Given the description of an element on the screen output the (x, y) to click on. 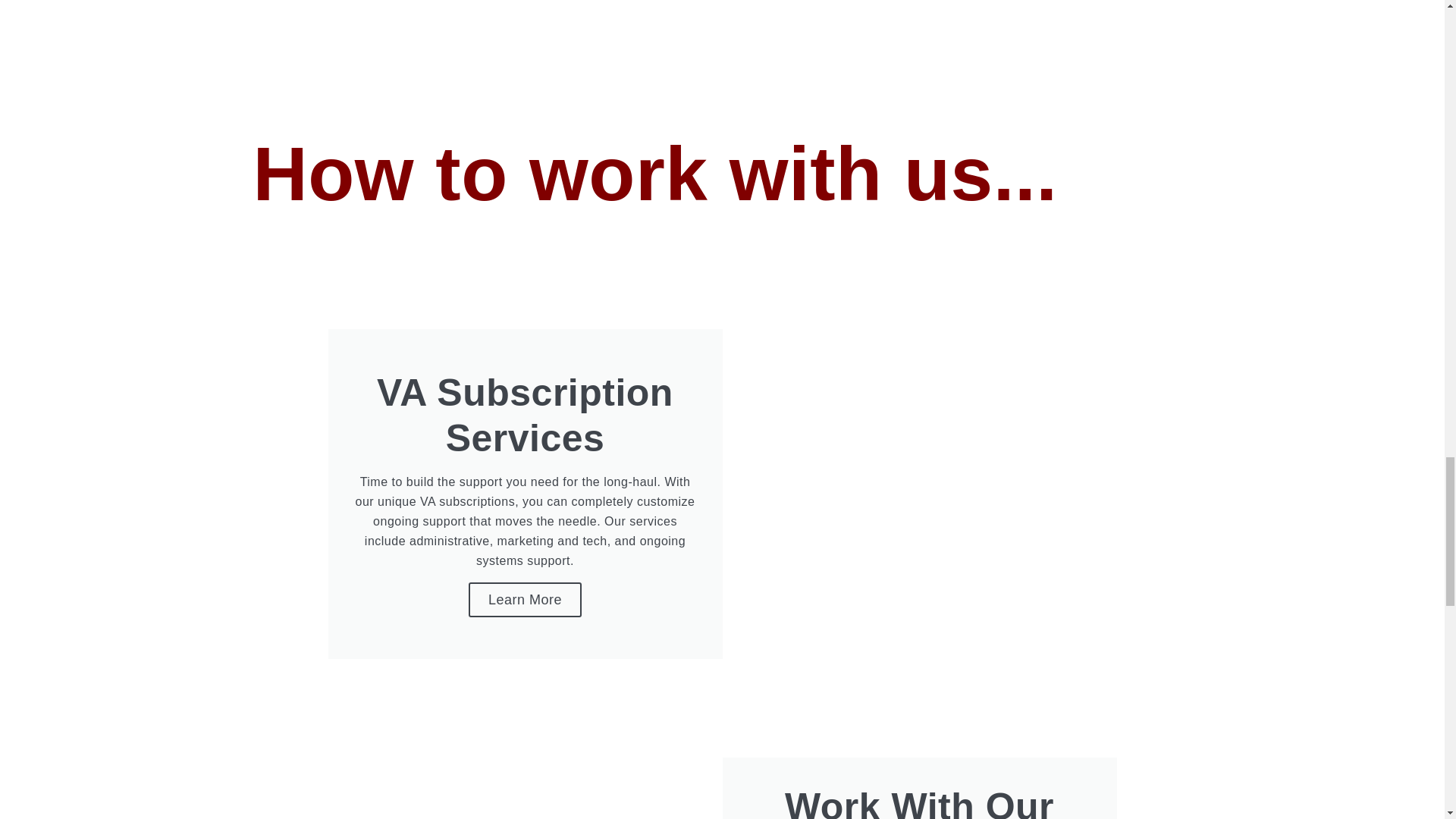
Learn More (524, 599)
